Given the description of an element on the screen output the (x, y) to click on. 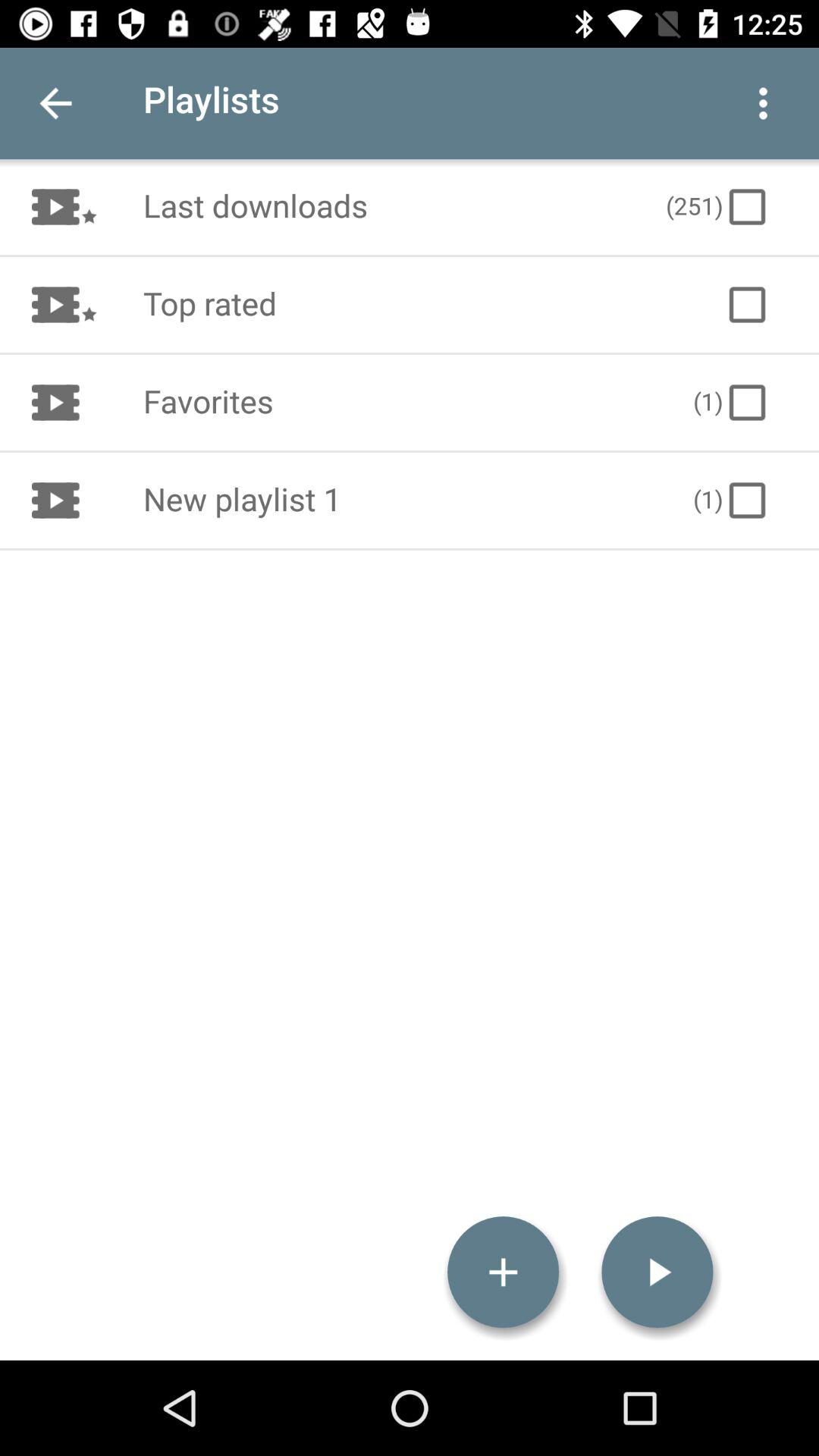
flip until top rated item (417, 304)
